Given the description of an element on the screen output the (x, y) to click on. 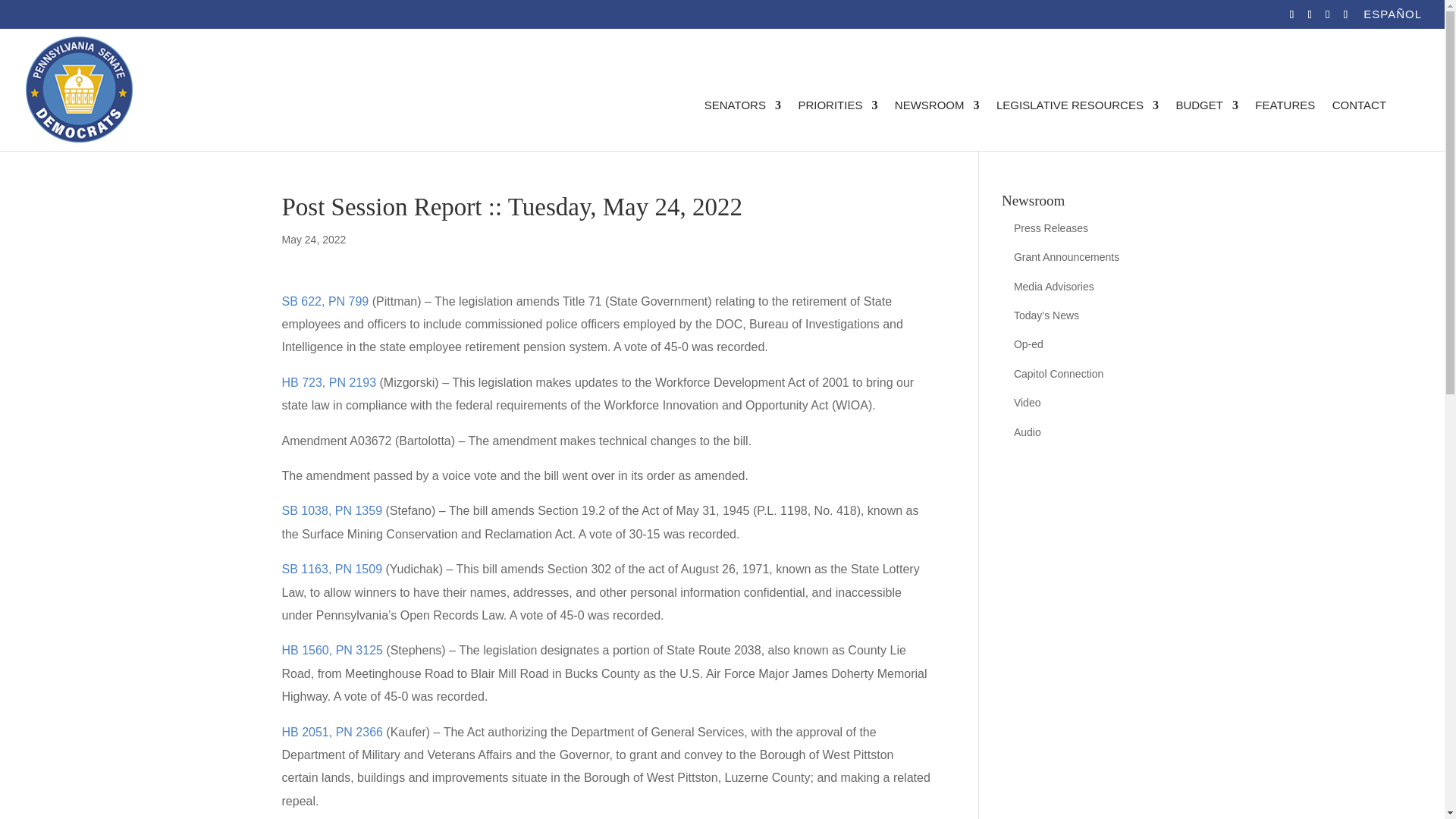
PRIORITIES (837, 124)
LEGISLATIVE RESOURCES (1076, 124)
NEWSROOM (937, 124)
SENATORS (742, 124)
